Given the description of an element on the screen output the (x, y) to click on. 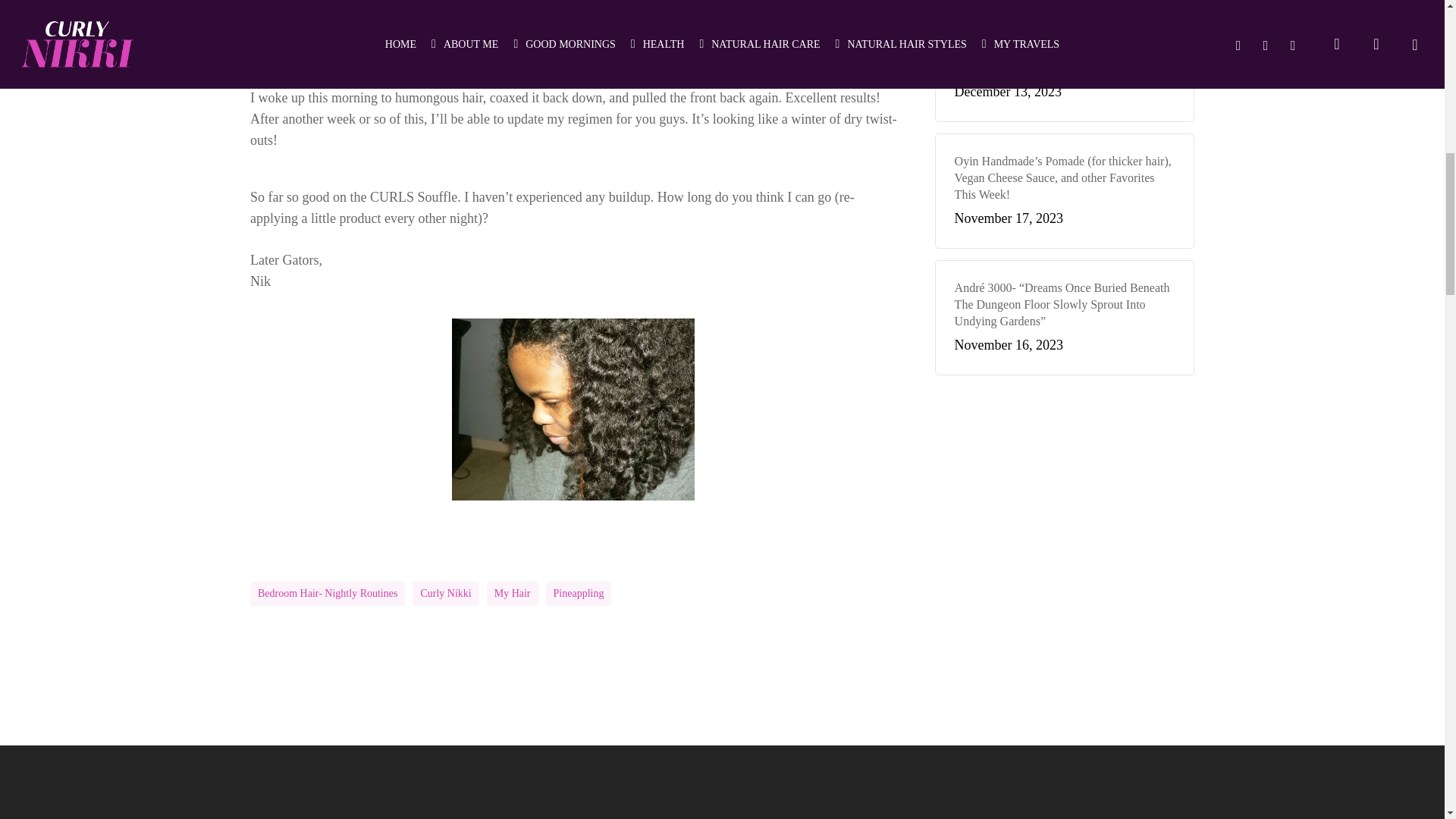
Preserving the Dry Twist-Out (572, 409)
